Given the description of an element on the screen output the (x, y) to click on. 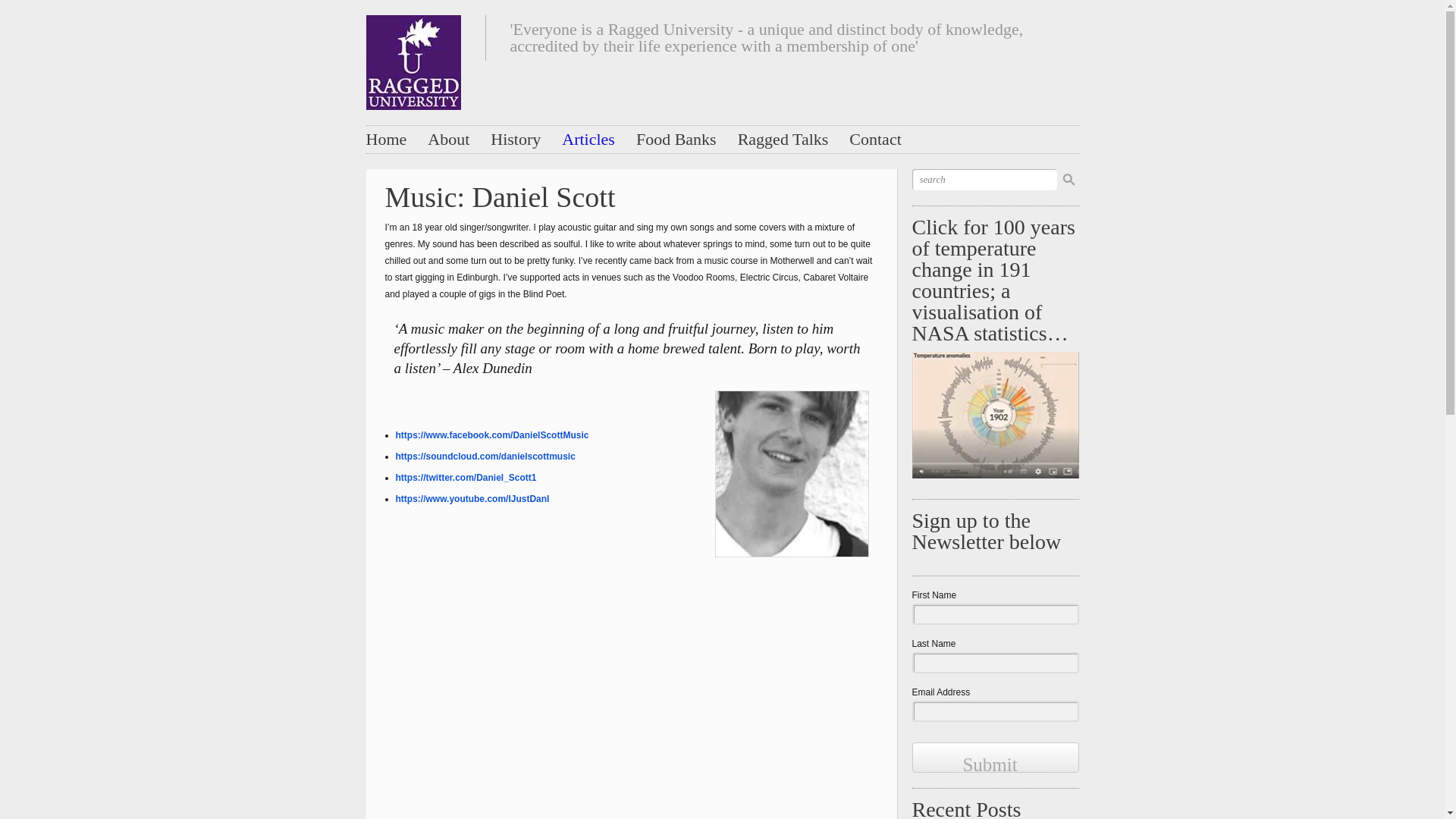
Food Banks (676, 139)
History (515, 139)
Home (385, 139)
About (448, 139)
Ragged University (412, 57)
Ragged Talks (783, 139)
Articles (588, 139)
